Given the description of an element on the screen output the (x, y) to click on. 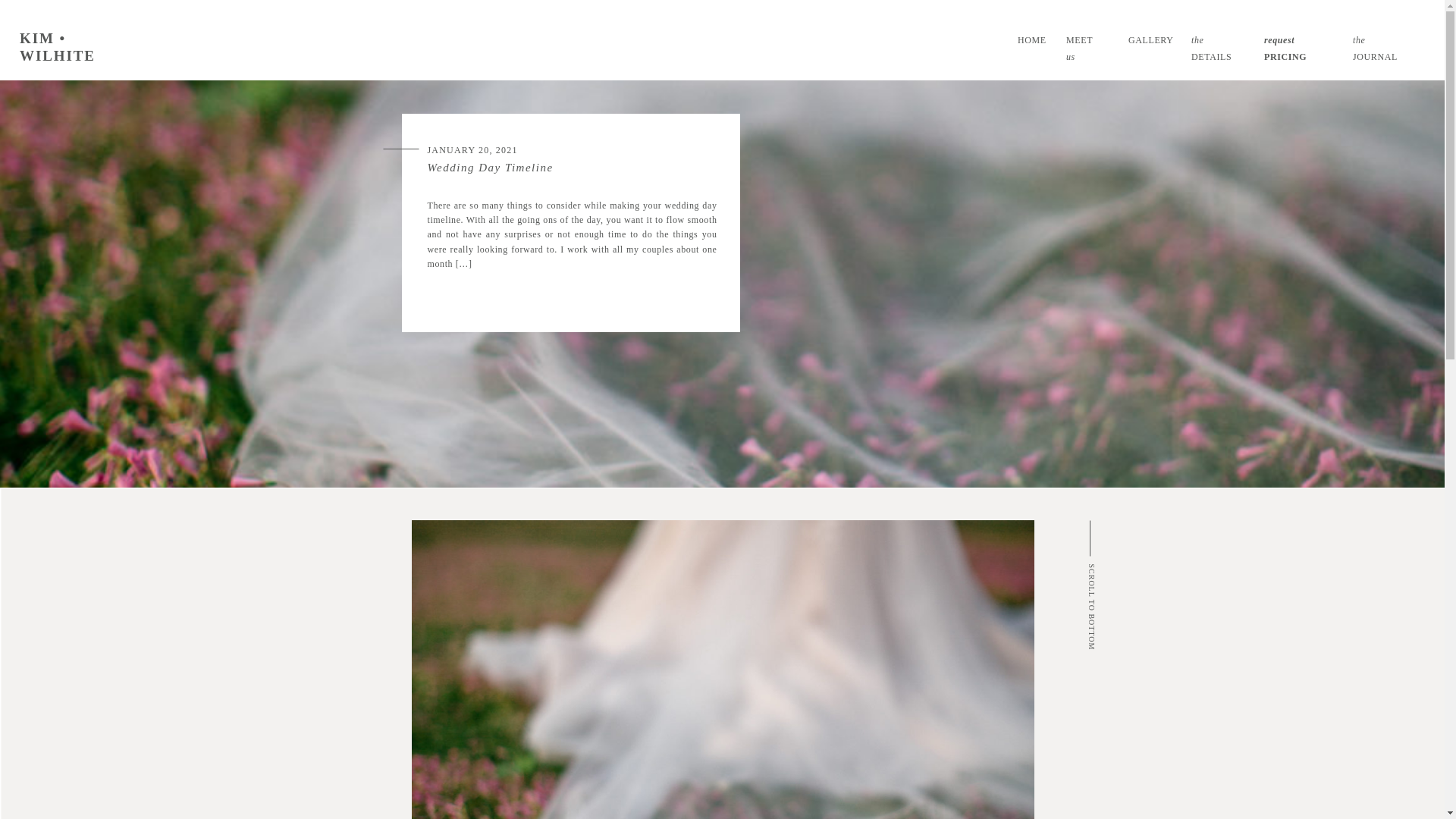
HOME (1031, 38)
GALLERY (1147, 38)
request PRICING (1299, 38)
the JOURNAL (1381, 38)
the DETAILS (1217, 38)
SCROLL TO BOTTOM (1130, 570)
MEET us (1084, 38)
